Given the description of an element on the screen output the (x, y) to click on. 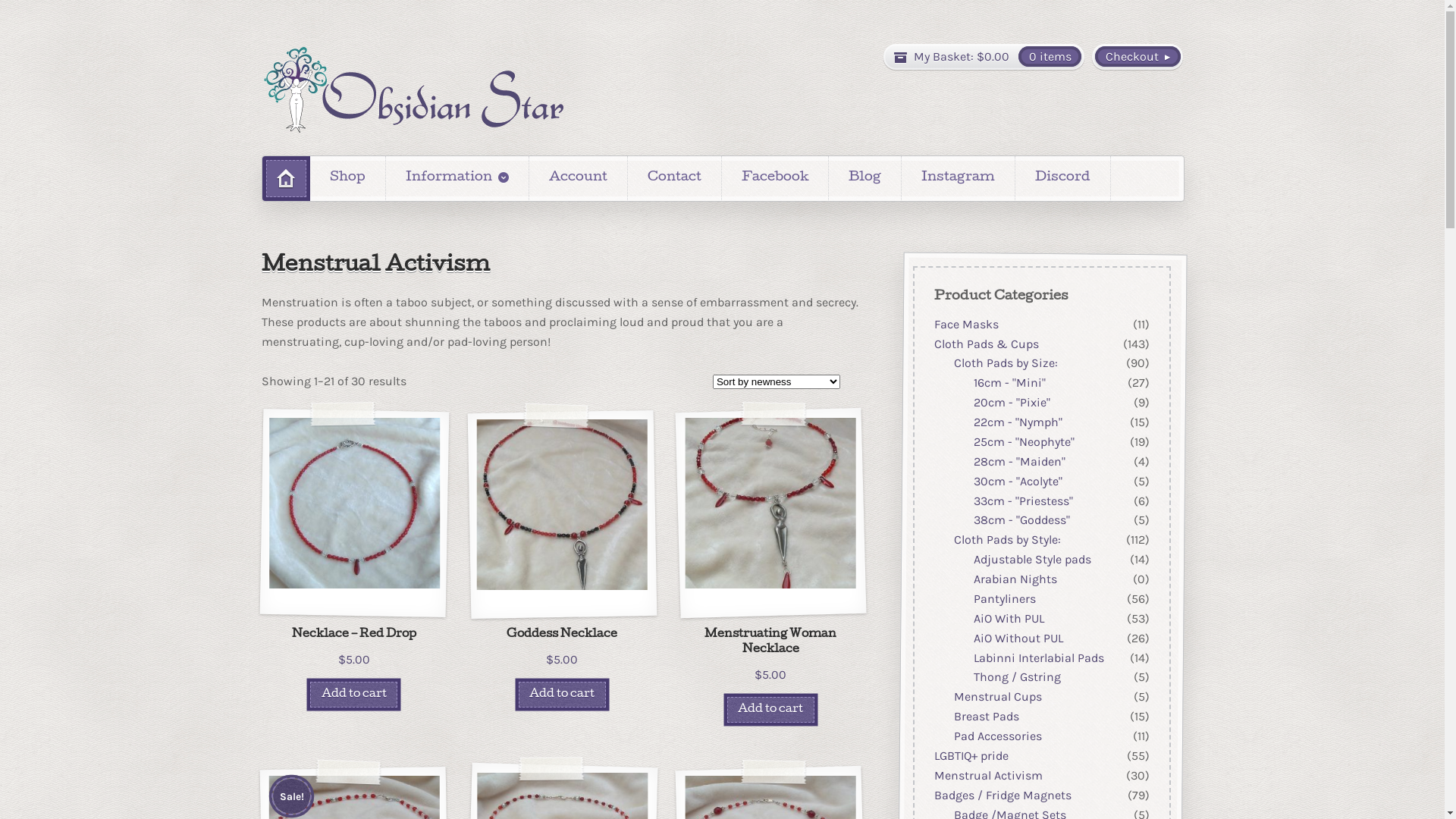
AiO Without PUL Element type: text (1017, 637)
Add to cart Element type: text (769, 709)
Discord Element type: text (1062, 178)
25cm - "Neophyte" Element type: text (1022, 441)
Face Masks Element type: text (965, 323)
Menstrual Activism Element type: text (987, 775)
Information Element type: text (456, 178)
Account Element type: text (578, 178)
38cm - "Goddess" Element type: text (1020, 519)
28cm - "Maiden" Element type: text (1018, 461)
Facebook Element type: text (774, 178)
Add to cart Element type: text (353, 694)
Goddess Necklace
$5.00 Element type: text (562, 554)
20cm - "Pixie" Element type: text (1010, 402)
Blog Element type: text (864, 178)
Menstruating Woman Necklace
$5.00 Element type: text (770, 562)
Add to cart Element type: text (561, 694)
Labinni Interlabial Pads Element type: text (1037, 657)
Home Element type: text (286, 178)
Pad Accessories Element type: text (997, 735)
30cm - "Acolyte" Element type: text (1016, 480)
LGBTIQ+ pride Element type: text (970, 755)
Cloth Pads by Size: Element type: text (1005, 363)
Arabian Nights Element type: text (1014, 578)
AiO With PUL Element type: text (1007, 618)
Instagram Element type: text (957, 178)
Cloth Pads by Style: Element type: text (1006, 539)
Pantyliners Element type: text (1003, 598)
Breast Pads Element type: text (985, 716)
Cloth Pads & Cups Element type: text (985, 343)
Adjustable Style pads Element type: text (1031, 559)
33cm - "Priestess" Element type: text (1022, 500)
Online Store Element type: hover (412, 89)
Badges / Fridge Magnets Element type: text (1001, 794)
Checkout Element type: text (1137, 56)
16cm - "Mini" Element type: text (1008, 382)
My Basket: $0.00 0 items Element type: text (983, 56)
Contact Element type: text (674, 178)
Shop Element type: text (347, 178)
Menstrual Cups Element type: text (997, 696)
Thong / Gstring Element type: text (1016, 677)
22cm - "Nymph" Element type: text (1016, 421)
